Given the description of an element on the screen output the (x, y) to click on. 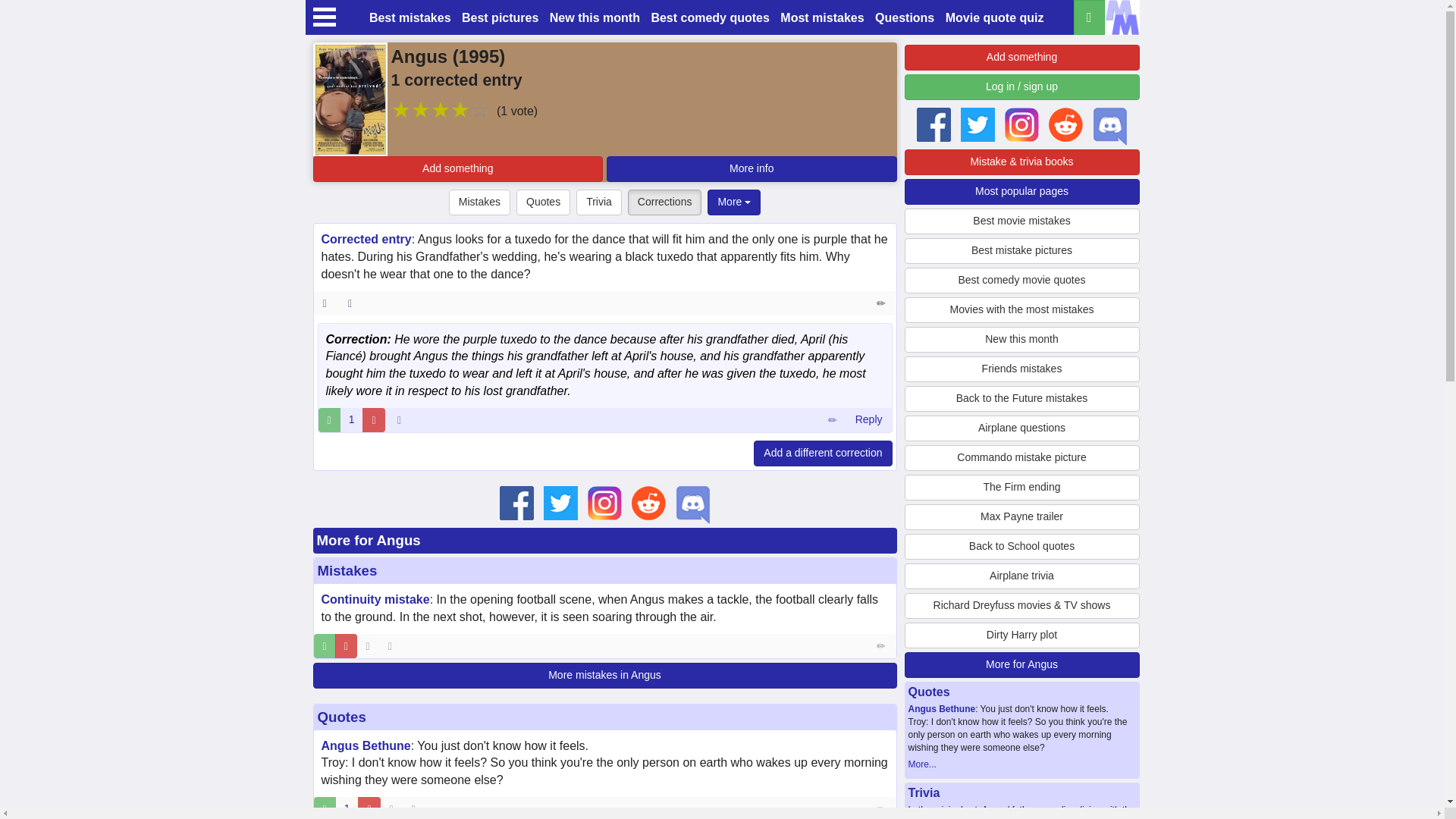
Share this entry (416, 807)
Share this entry (353, 303)
I like this (329, 419)
Share this entry (392, 645)
I dislike this (373, 419)
I like this (325, 645)
I dislike this (369, 807)
Entry 251651 (881, 807)
Edit correction 11337 (831, 419)
Entry 38083 (881, 303)
Comment on correction 11337 (868, 419)
I dislike this (345, 645)
I like this (325, 807)
Entry 16974 (881, 645)
